Given the description of an element on the screen output the (x, y) to click on. 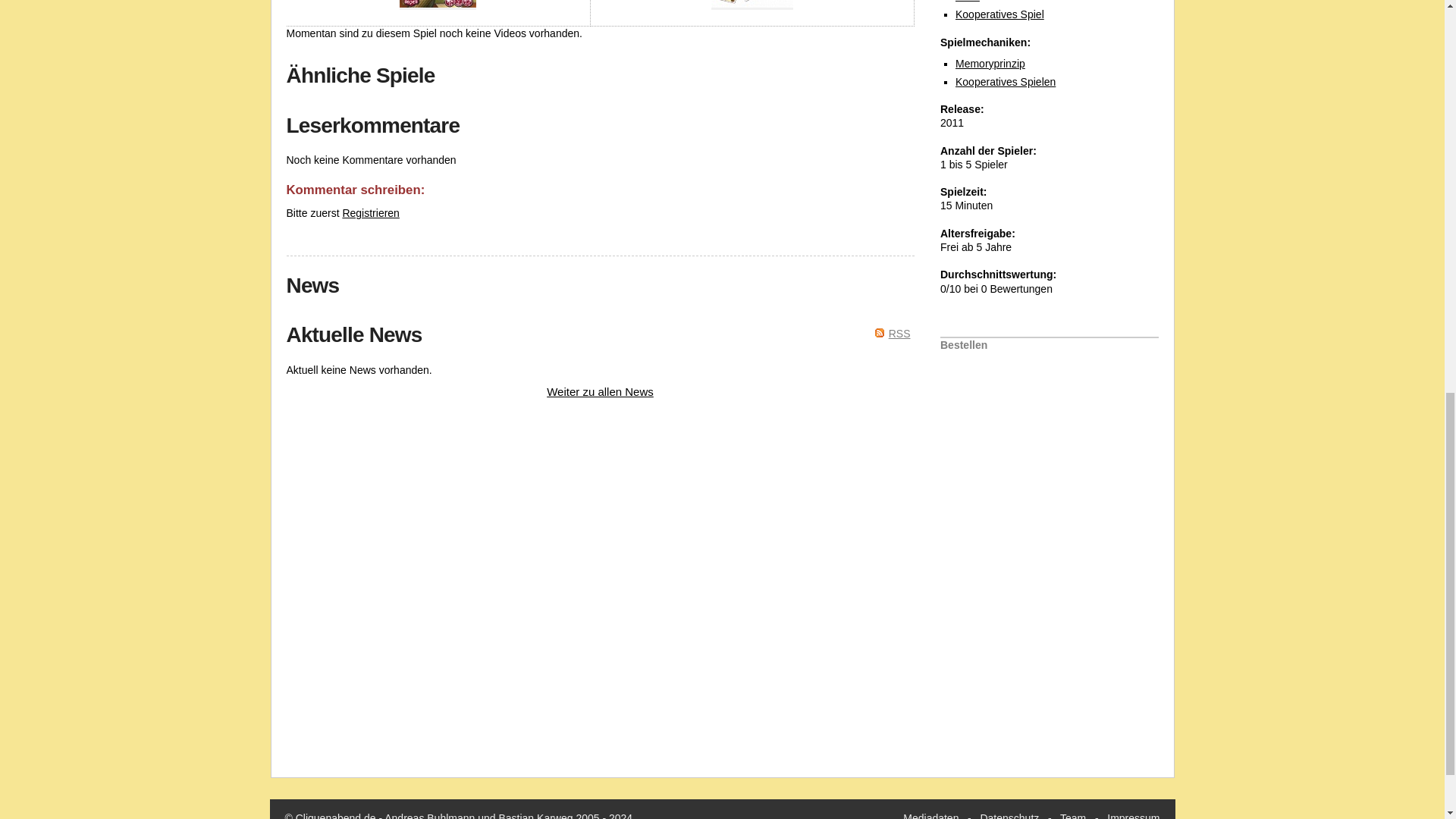
Memoryprinzip (990, 63)
Kooperatives Spiel (999, 14)
Krimi (967, 1)
Kooperatives Spielen (1005, 81)
